Given the description of an element on the screen output the (x, y) to click on. 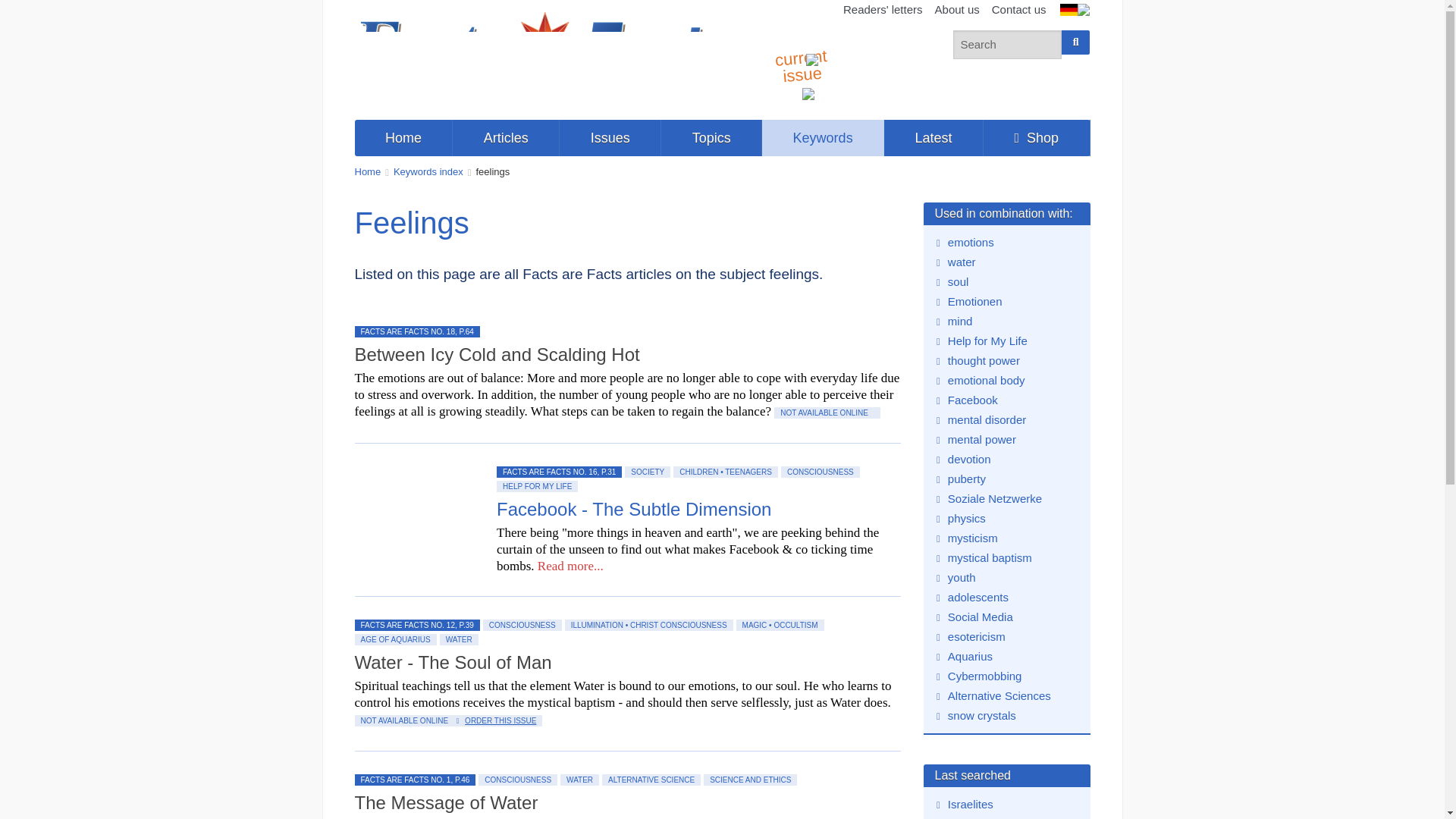
About us (956, 9)
Articles (505, 137)
Contact us (1018, 9)
FACTS ARE FACTS NO. 18, P.64 (417, 331)
Home (403, 137)
Keywords (822, 137)
Home (368, 171)
Readers' letters (883, 9)
Topics (711, 137)
Latest (933, 137)
